Given the description of an element on the screen output the (x, y) to click on. 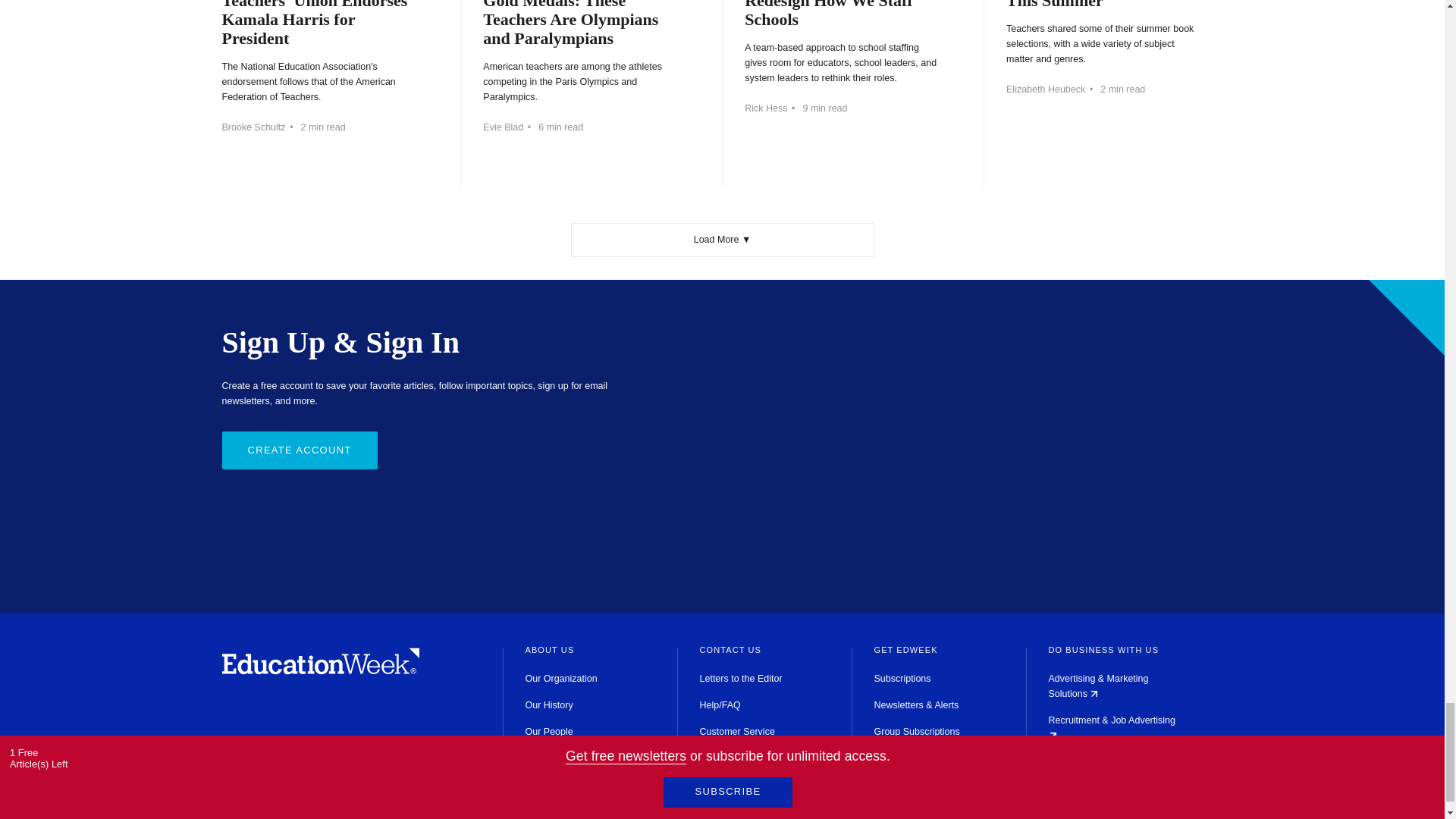
Homepage (320, 670)
